Given the description of an element on the screen output the (x, y) to click on. 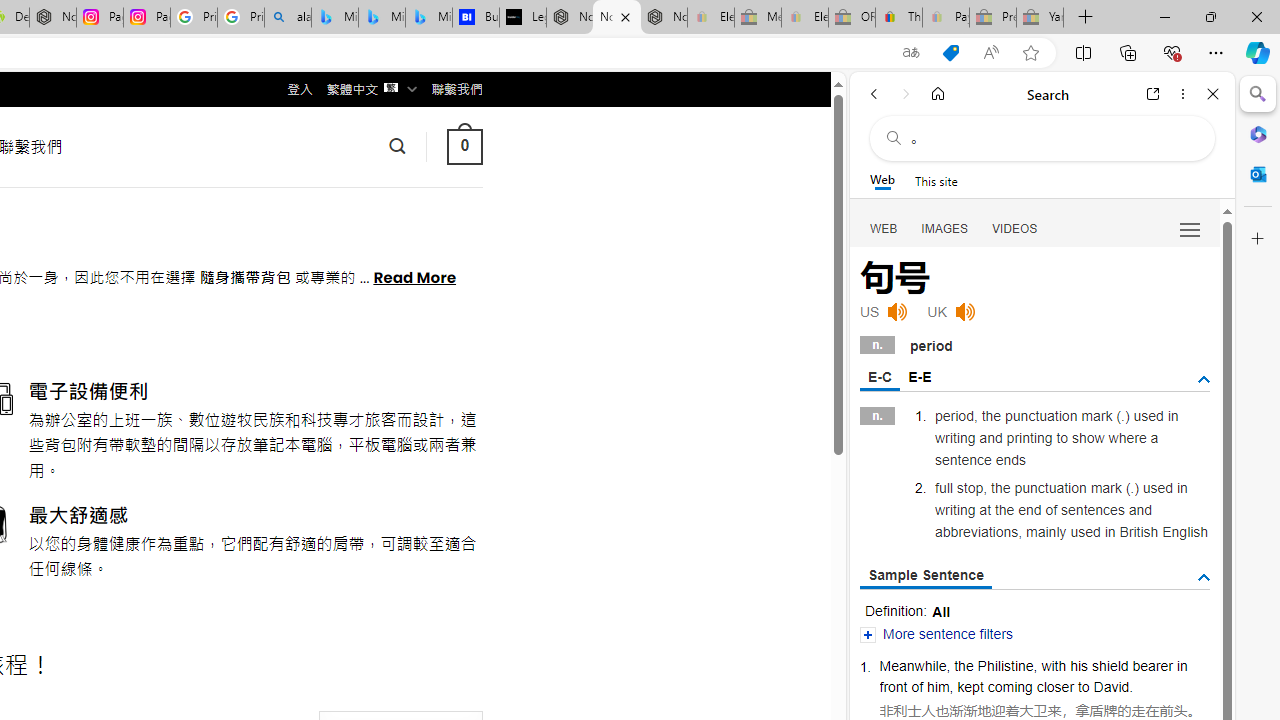
Microsoft Bing Travel - Flights from Hong Kong to Bangkok (335, 17)
front (893, 686)
Microsoft Bing Travel - Shangri-La Hotel Bangkok (428, 17)
AutomationID: tgdef (1203, 379)
 0  (464, 146)
n.period (1034, 343)
